Given the description of an element on the screen output the (x, y) to click on. 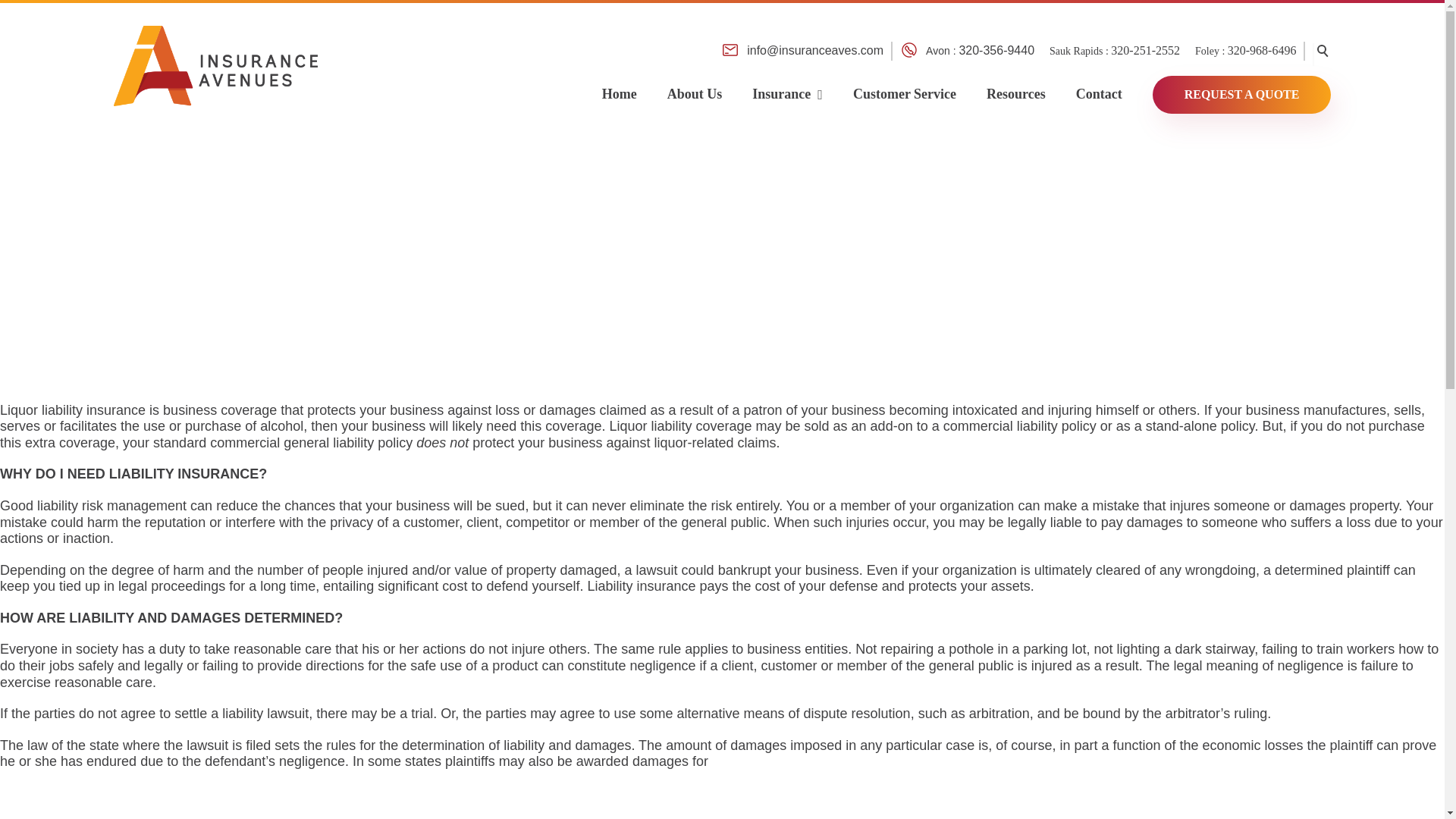
Insurance (787, 87)
Home (619, 87)
320-251-2552 (1144, 50)
Resources (1016, 87)
REQUEST A QUOTE (1234, 86)
320-968-6496 (1262, 50)
320-356-9440 (995, 50)
About Us (695, 87)
Contact (1099, 87)
Customer Service (904, 87)
